Given the description of an element on the screen output the (x, y) to click on. 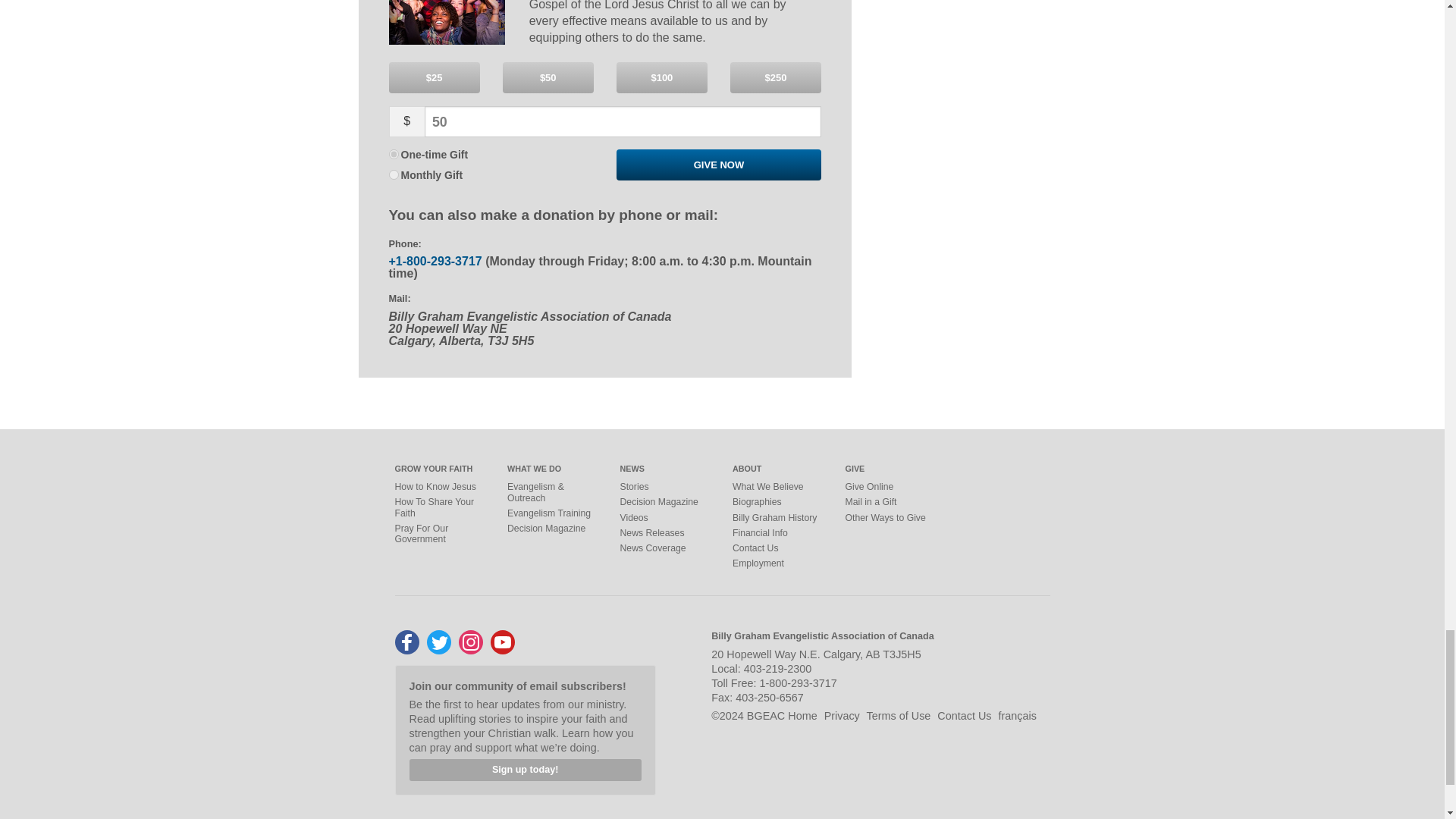
one-time (392, 153)
50 (623, 122)
recurring (392, 174)
